Given the description of an element on the screen output the (x, y) to click on. 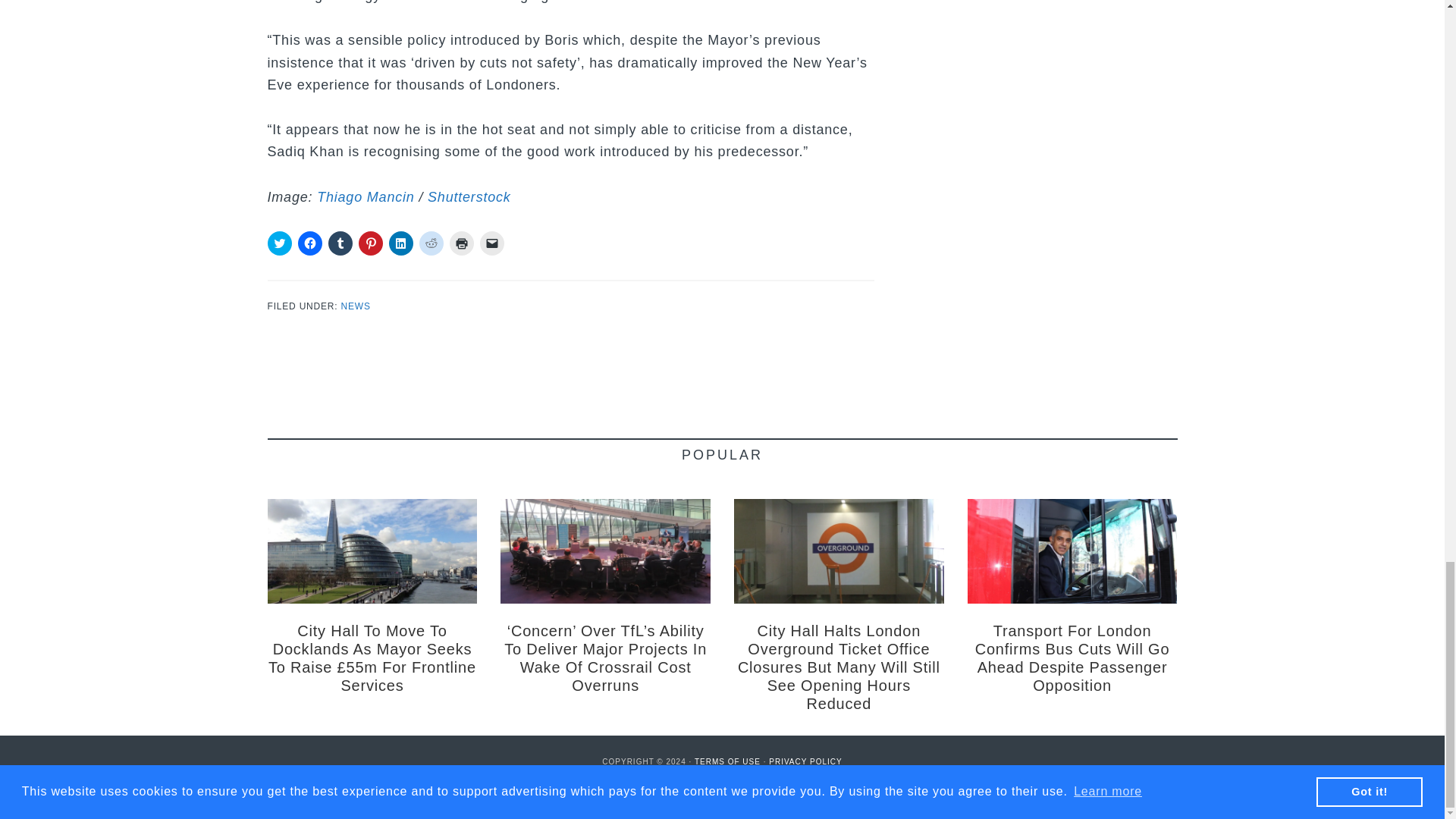
Click to share on Tumblr (339, 242)
Shutterstock (469, 196)
Click to email a link to a friend (491, 242)
Click to share on Reddit (430, 242)
Click to print (460, 242)
Click to share on Pinterest (369, 242)
Thiago Mancin (365, 196)
Click to share on Twitter (278, 242)
NEWS (355, 306)
Click to share on Facebook (309, 242)
Click to share on LinkedIn (400, 242)
